Given the description of an element on the screen output the (x, y) to click on. 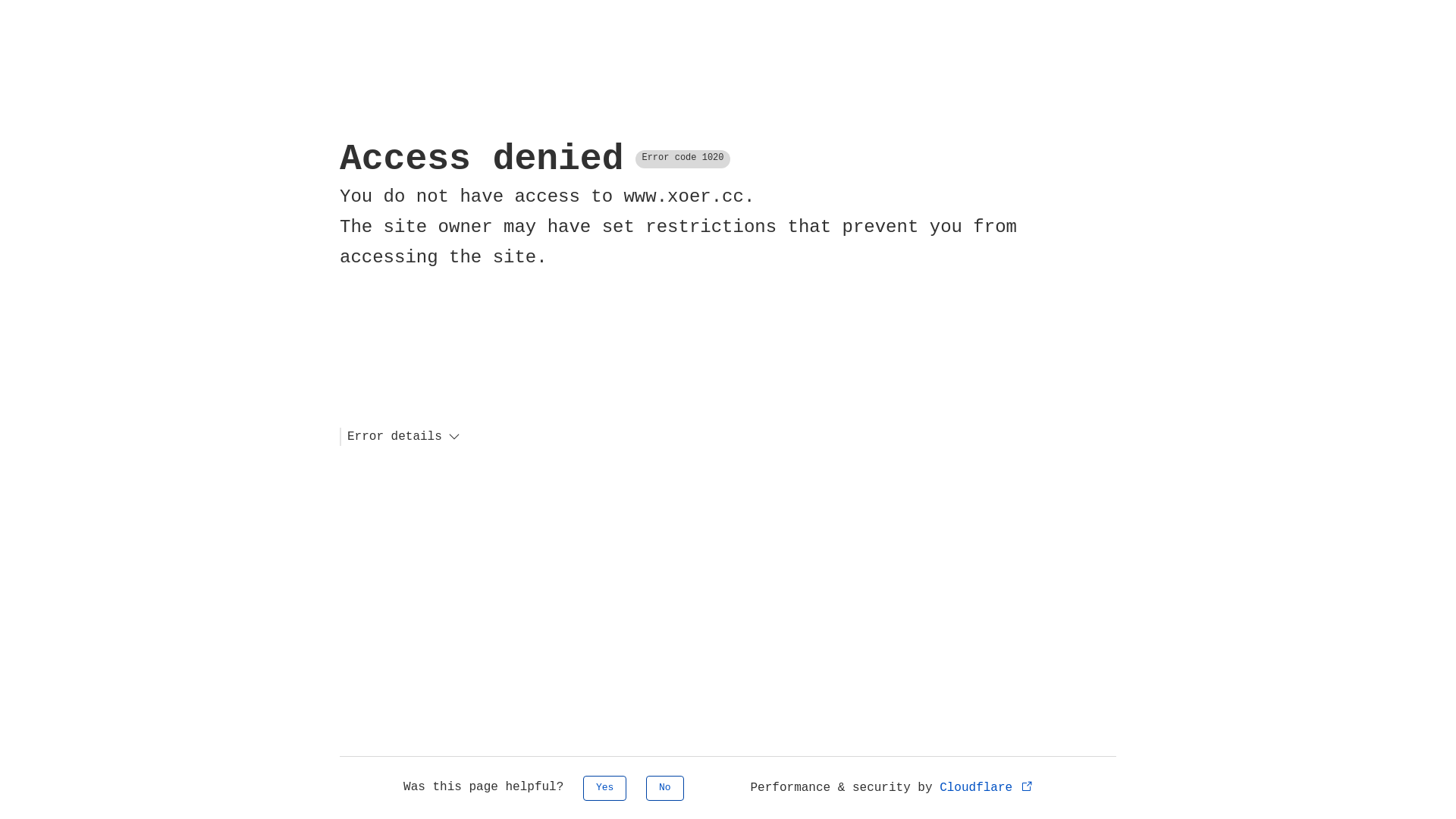
No Element type: text (665, 787)
Yes Element type: text (604, 787)
Cloudflare Element type: text (986, 787)
Opens in new tab Element type: hover (1027, 785)
